Given the description of an element on the screen output the (x, y) to click on. 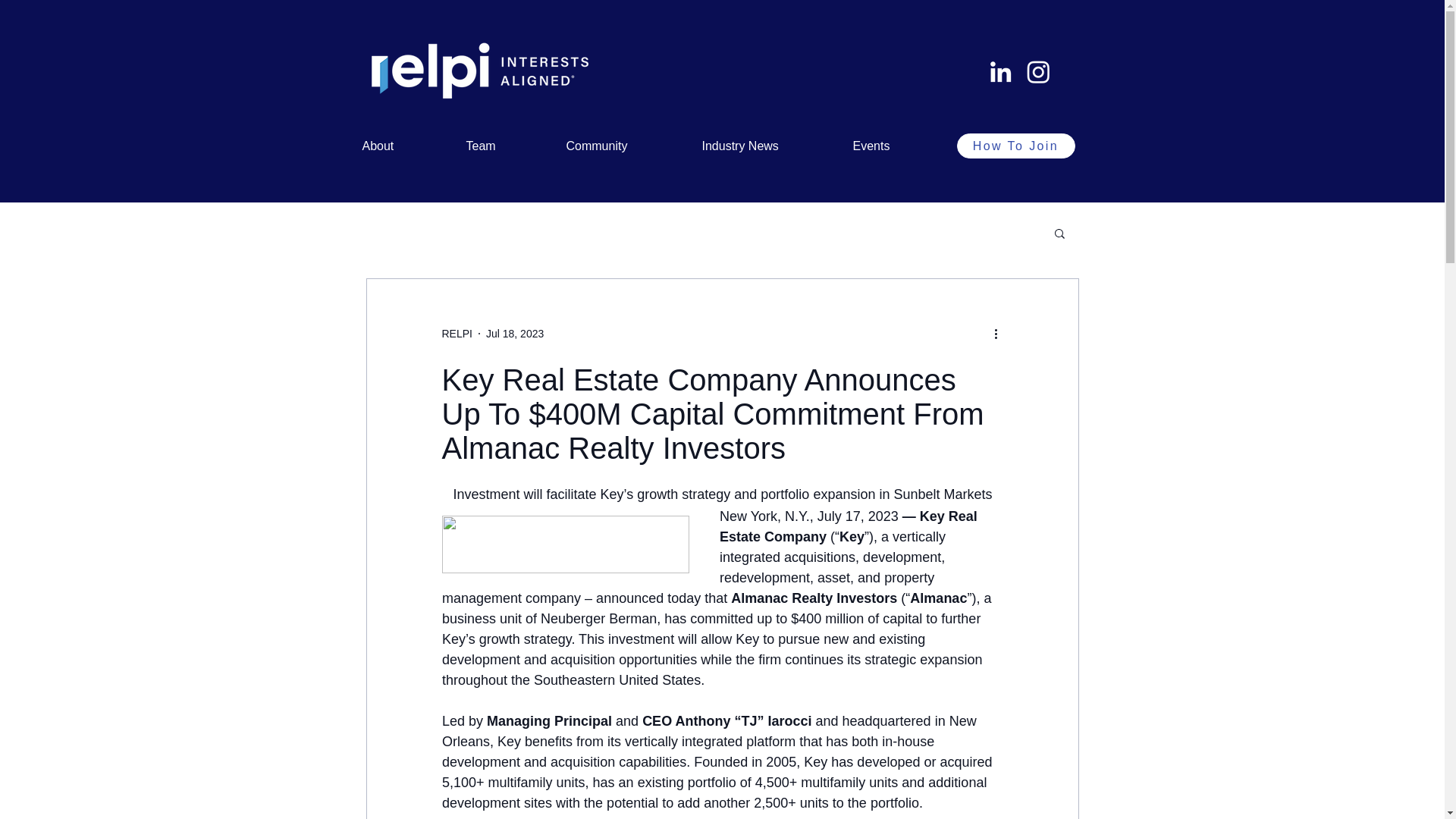
How To Join (1015, 145)
RELPI (456, 333)
Events (895, 145)
Community (622, 145)
About (402, 145)
Jul 18, 2023 (514, 333)
RELPI (456, 333)
